Given the description of an element on the screen output the (x, y) to click on. 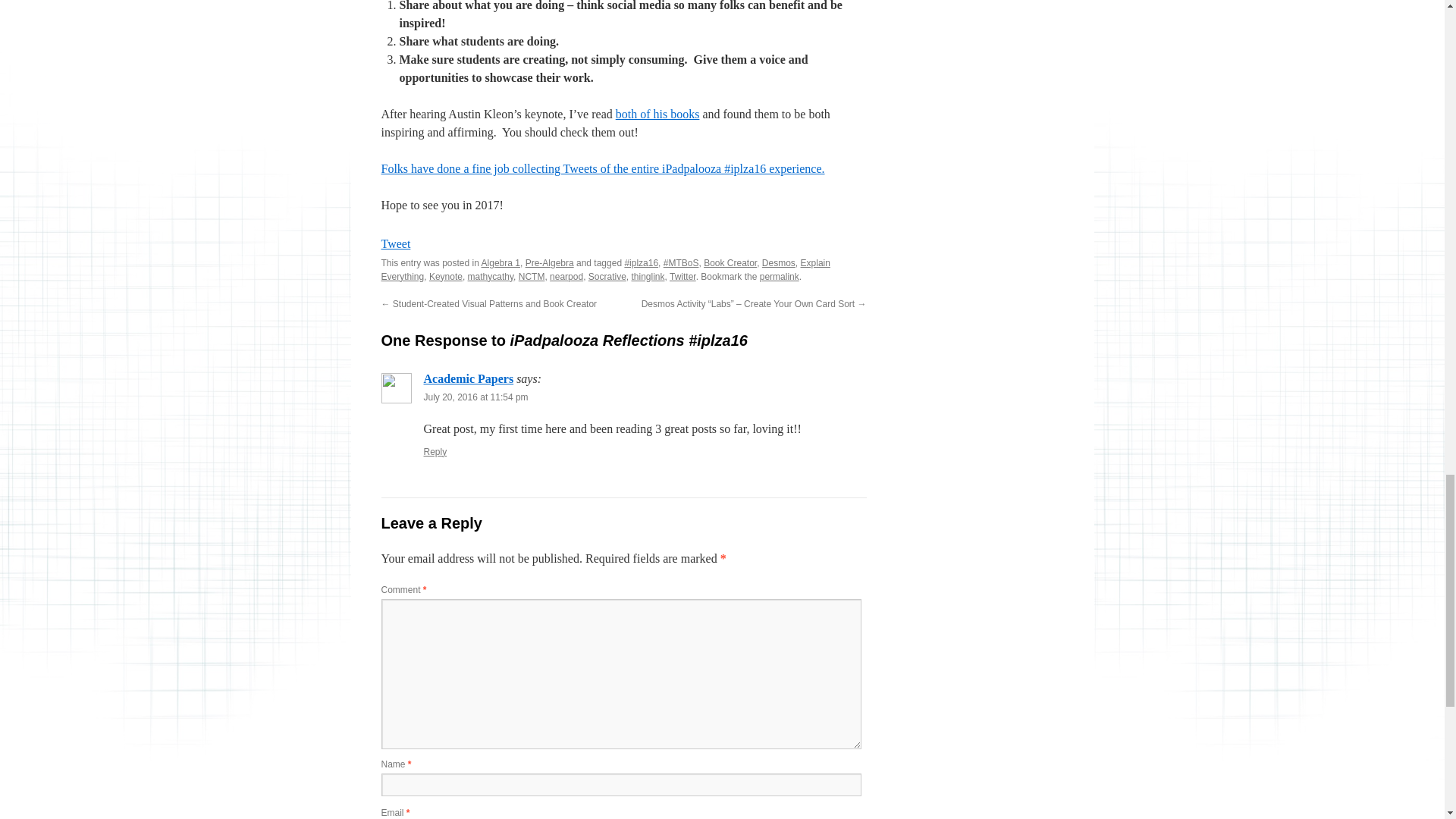
Pre-Algebra (549, 262)
Tweet (395, 243)
Algebra 1 (500, 262)
both of his books (657, 113)
